Given the description of an element on the screen output the (x, y) to click on. 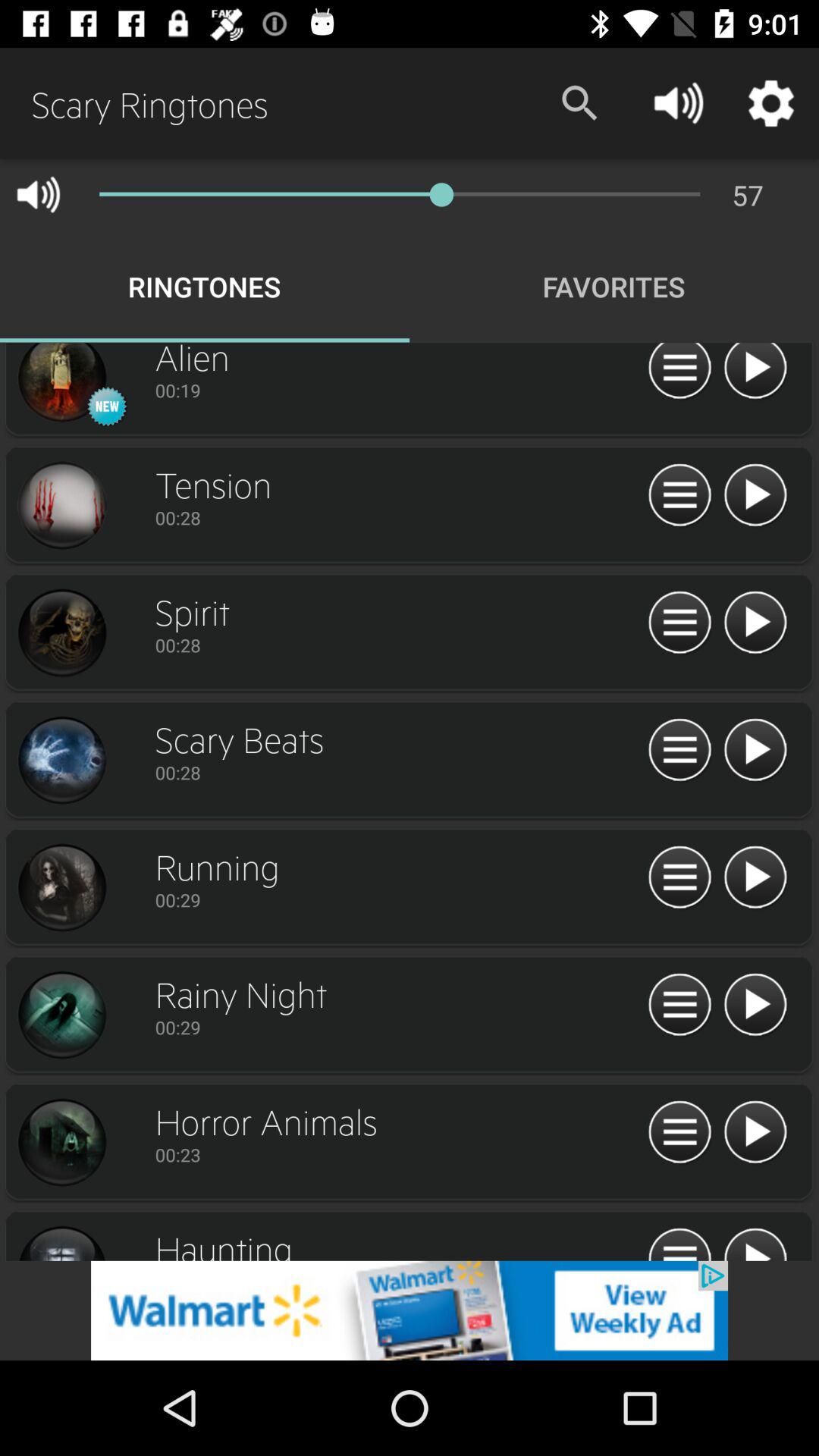
view image (61, 1015)
